Given the description of an element on the screen output the (x, y) to click on. 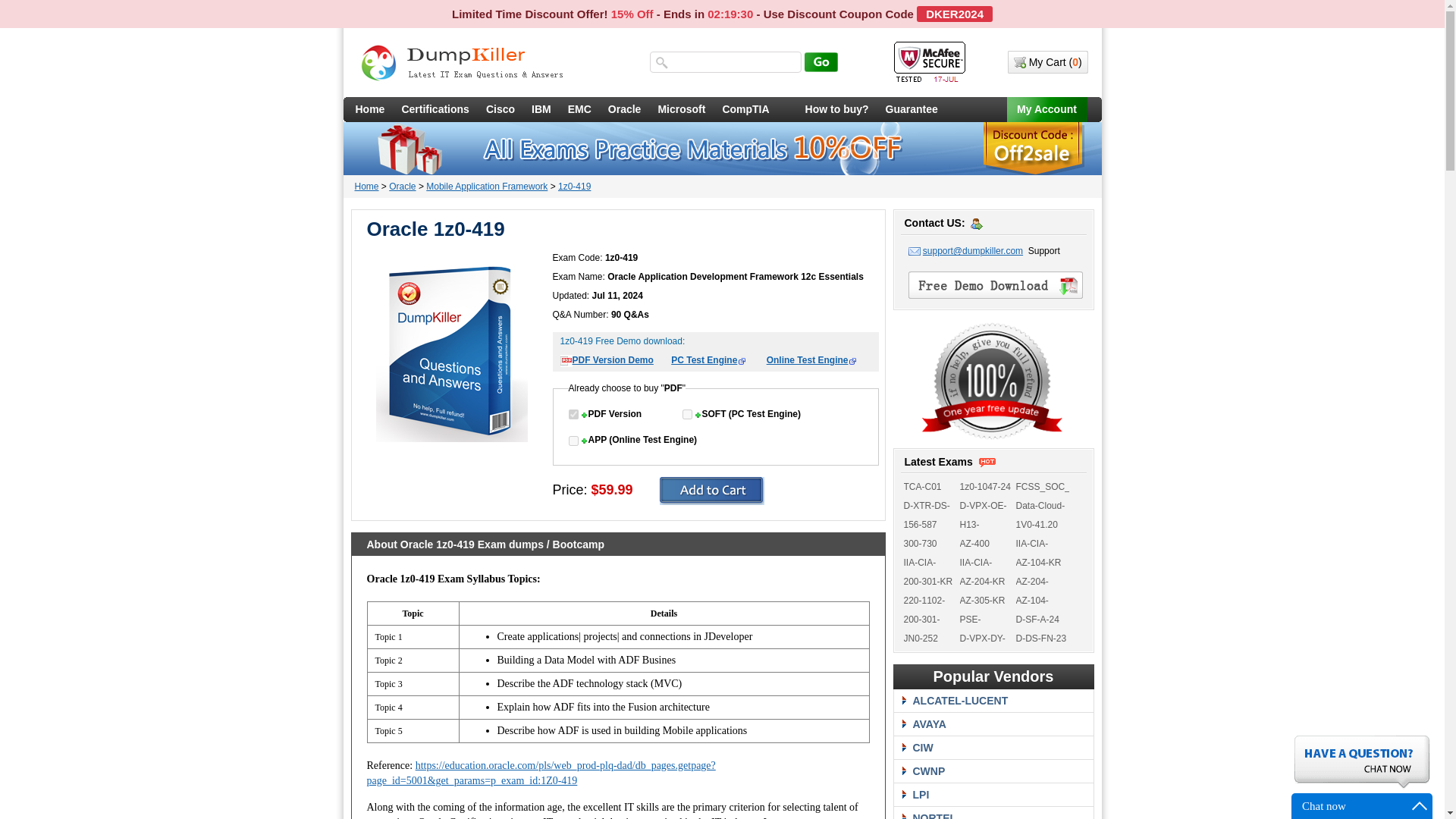
Certifications (435, 109)
APP (573, 440)
Data-Cloud-Consultant (1040, 514)
1z0-1047-24 (984, 486)
Oracle (624, 109)
Mobile Application Framework (486, 185)
D-VPX-OE-A-24 (983, 514)
1V0-41.20 (1037, 524)
Cisco (499, 109)
My Account (1047, 109)
Home (366, 185)
300-730 (920, 543)
on (573, 440)
on (687, 414)
Guarantee (911, 109)
